Given the description of an element on the screen output the (x, y) to click on. 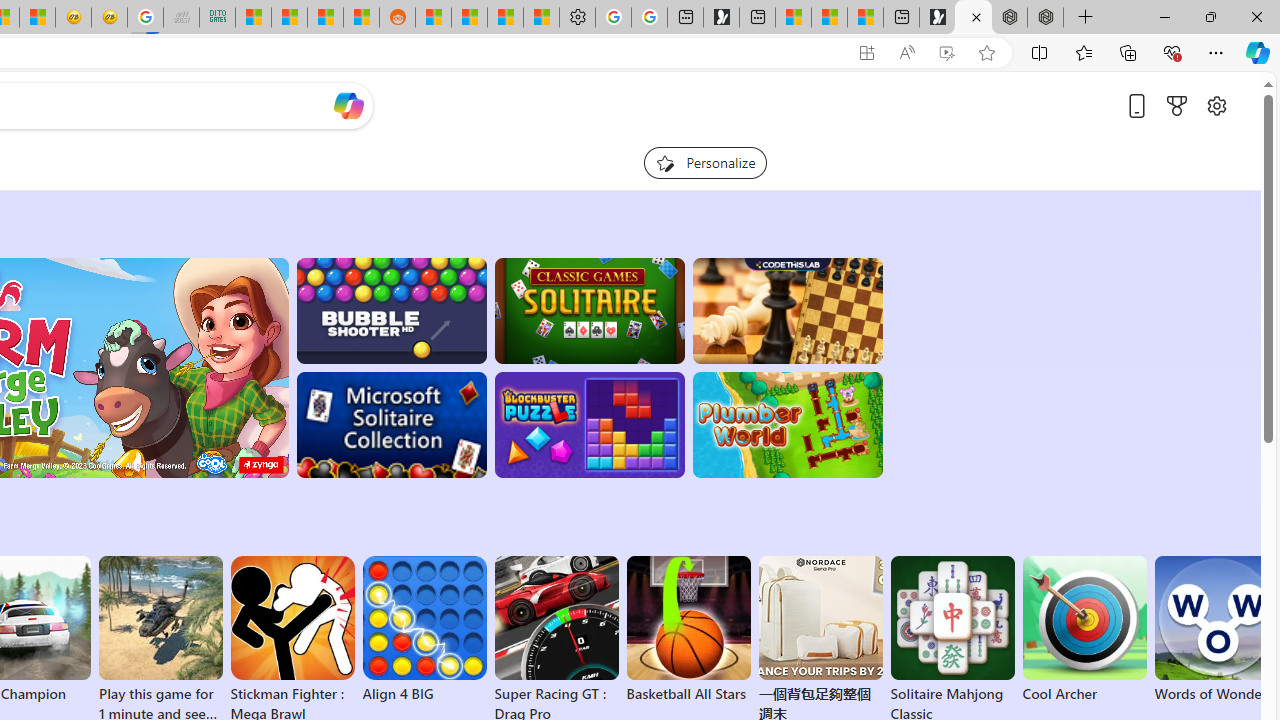
Microsoft Solitaire Collection (390, 425)
Bubble Shooter HD (390, 310)
These 3 Stocks Pay You More Than 5% to Own Them (865, 17)
Align 4 BIG (424, 629)
